Given the description of an element on the screen output the (x, y) to click on. 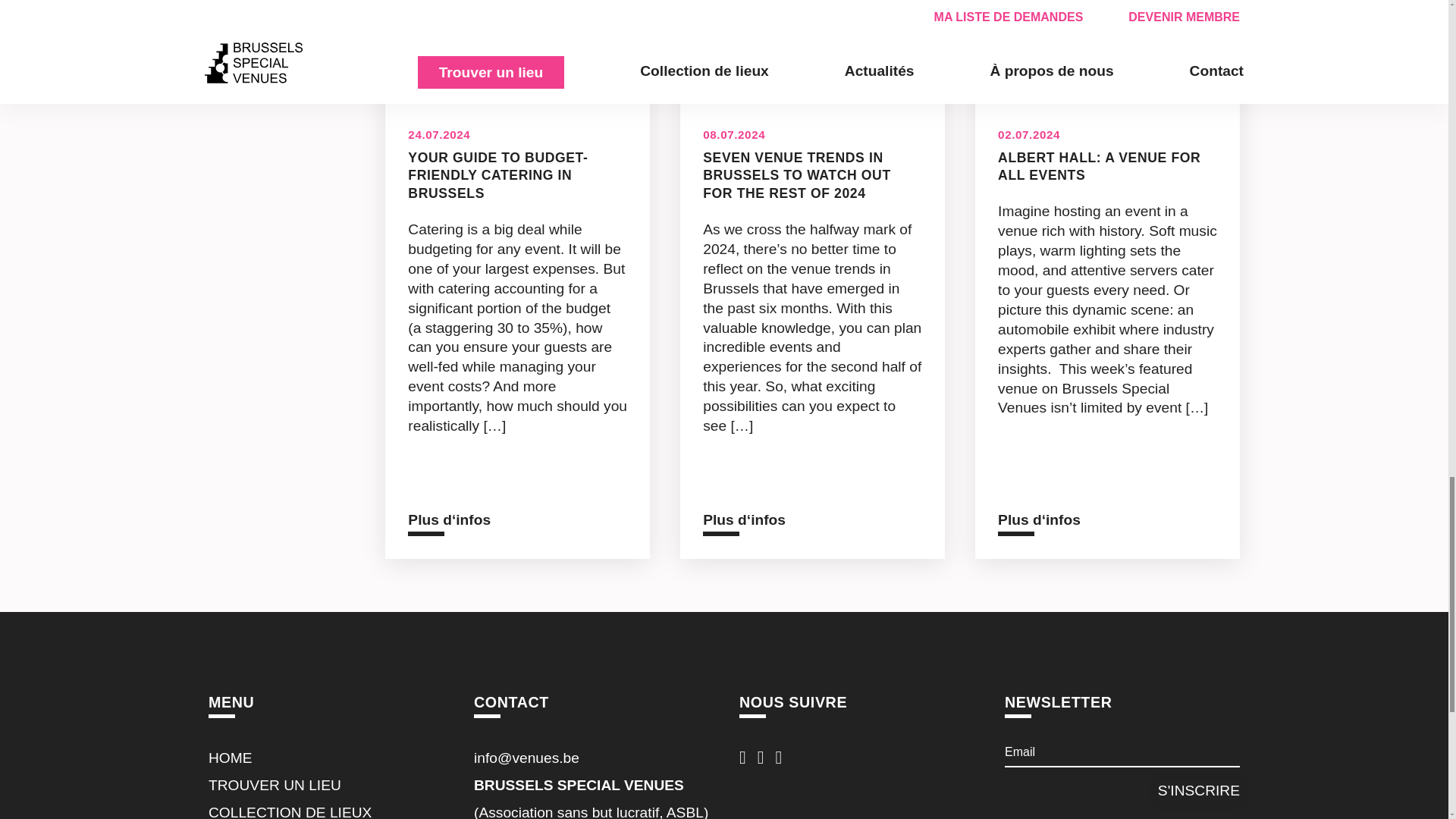
COLLECTION DE LIEUX (289, 811)
TROUVER UN LIEU (274, 785)
HOME (229, 757)
S'INSCRIRE (1198, 790)
